Given the description of an element on the screen output the (x, y) to click on. 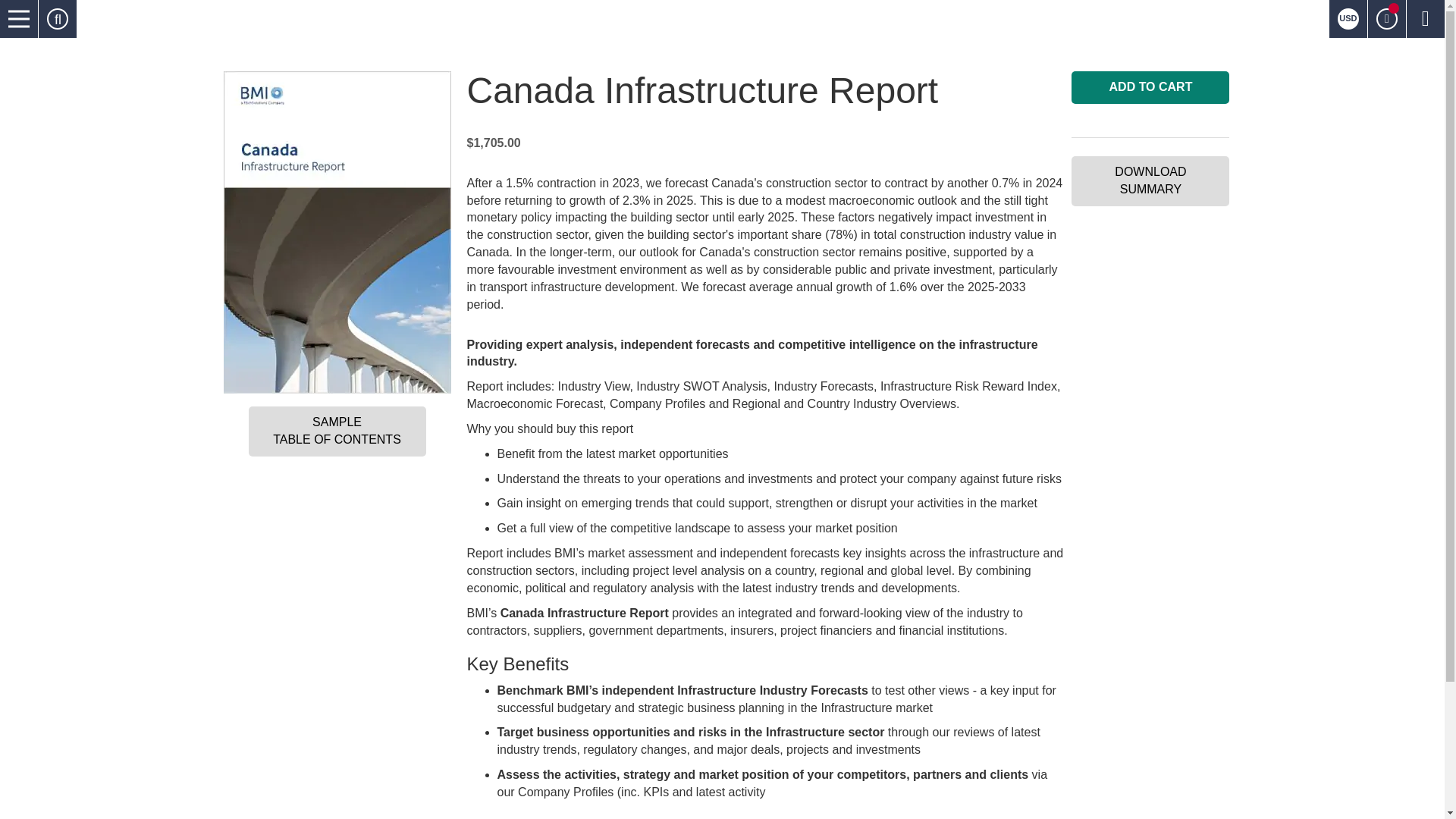
Add to Cart (1149, 87)
